Given the description of an element on the screen output the (x, y) to click on. 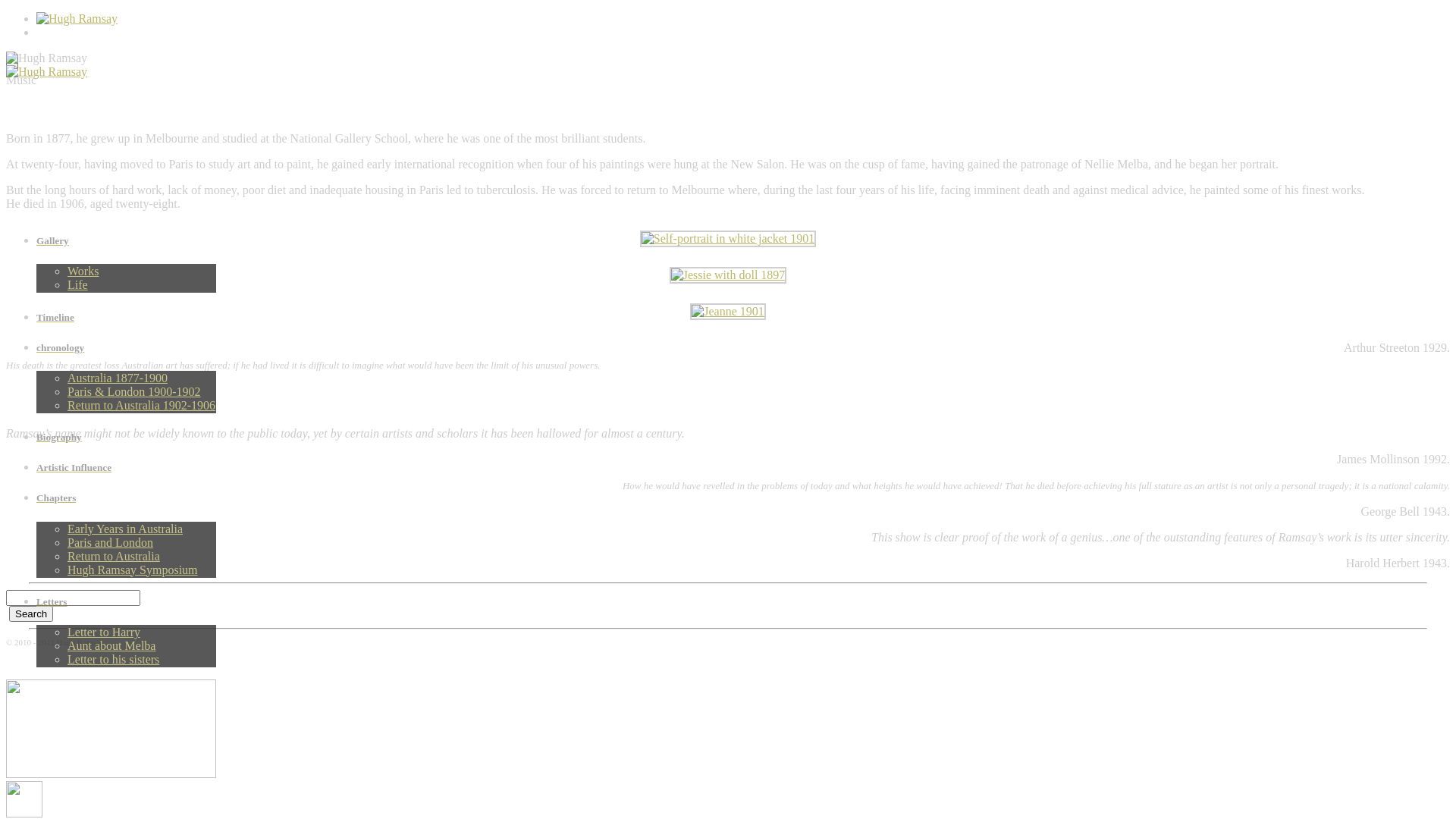
Return to Australia 1902-1906 Element type: text (141, 404)
Paris & London 1900-1902 Element type: text (133, 391)
Timeline Element type: text (126, 317)
Letters Element type: text (126, 602)
Artistic Influence Element type: text (126, 467)
Return to Australia Element type: text (113, 555)
Letter to his sisters Element type: text (113, 658)
Letter to Harry Element type: text (103, 631)
Search Element type: text (31, 613)
Gallery Element type: text (126, 241)
Aunt about Melba Element type: text (111, 645)
Life Element type: text (77, 284)
chronology Element type: text (126, 348)
Works Element type: text (82, 270)
Paris and London Element type: text (110, 542)
Hugh Ramsay Element type: hover (46, 58)
Hide the navigation Element type: hover (24, 799)
Early Years in Australia Element type: text (124, 528)
Hugh Ramsay Symposium Element type: text (132, 569)
Chapters Element type: text (126, 498)
Hugh Ramsay Element type: hover (46, 71)
Biography Element type: text (126, 437)
Australia 1877-1900 Element type: text (117, 377)
